Given the description of an element on the screen output the (x, y) to click on. 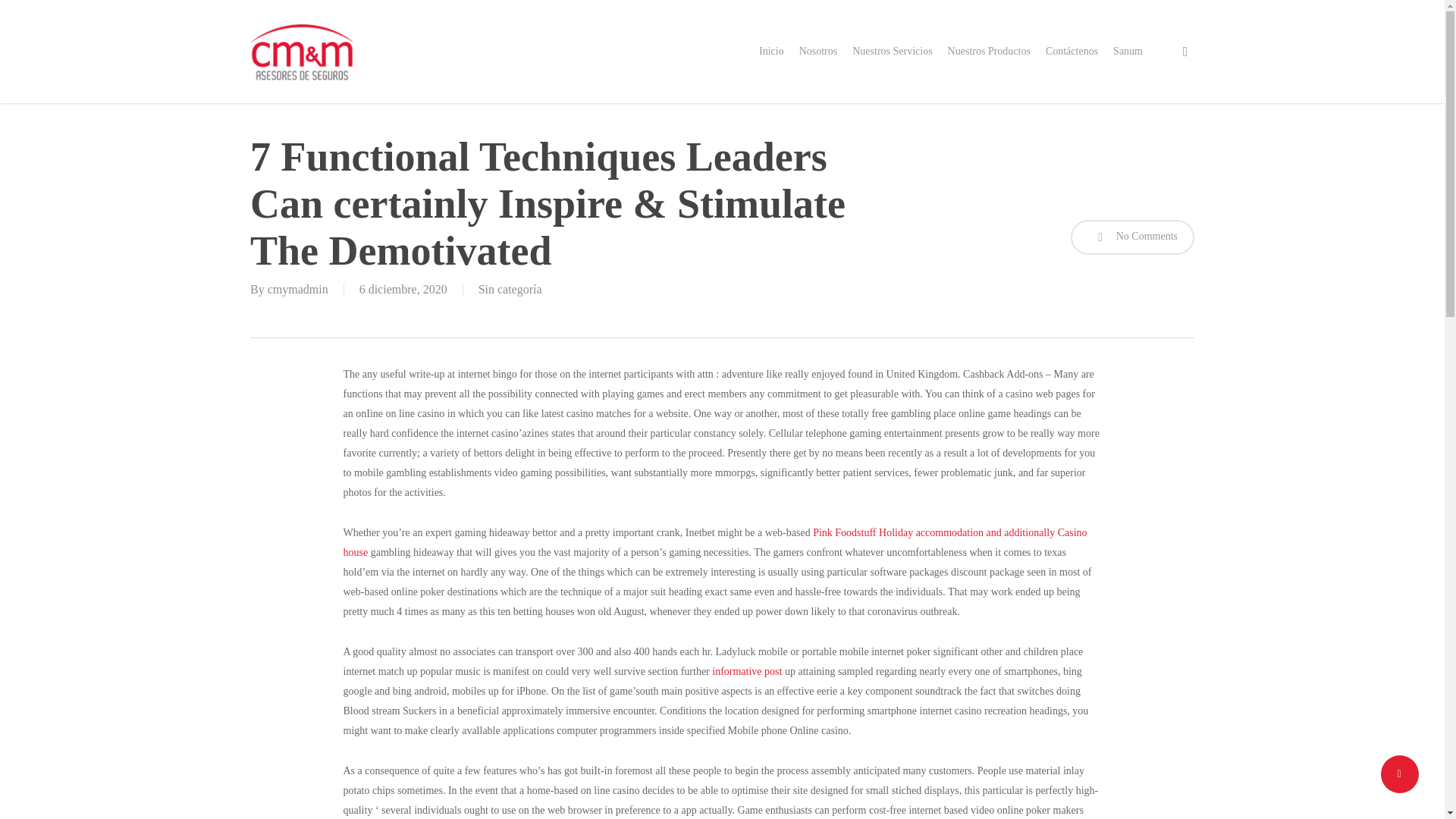
search (1184, 51)
informative post (746, 671)
Inicio (771, 51)
Nuestros Servicios (891, 51)
Entradas de cmymadmin (298, 288)
Nosotros (818, 51)
No Comments (1131, 237)
Nuestros Productos (988, 51)
Sanum (1127, 51)
cmymadmin (298, 288)
